Given the description of an element on the screen output the (x, y) to click on. 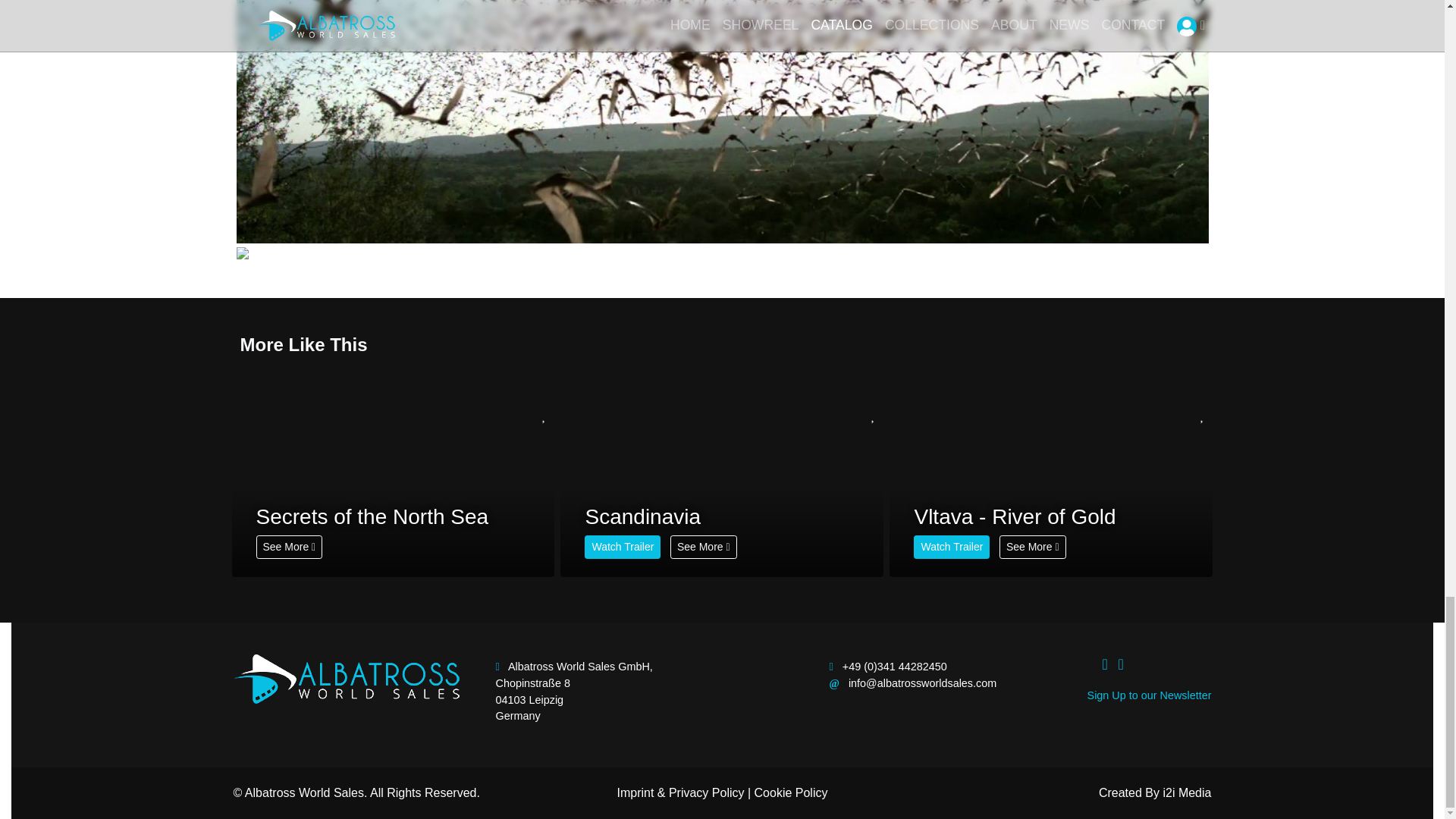
Watch Trailer (623, 546)
Watch Trailer (952, 546)
See More (702, 546)
See More (1031, 546)
Sign Up to our Newsletter (1149, 695)
i2i Media (1186, 792)
See More (289, 546)
Cookie Policy (791, 792)
